Given the description of an element on the screen output the (x, y) to click on. 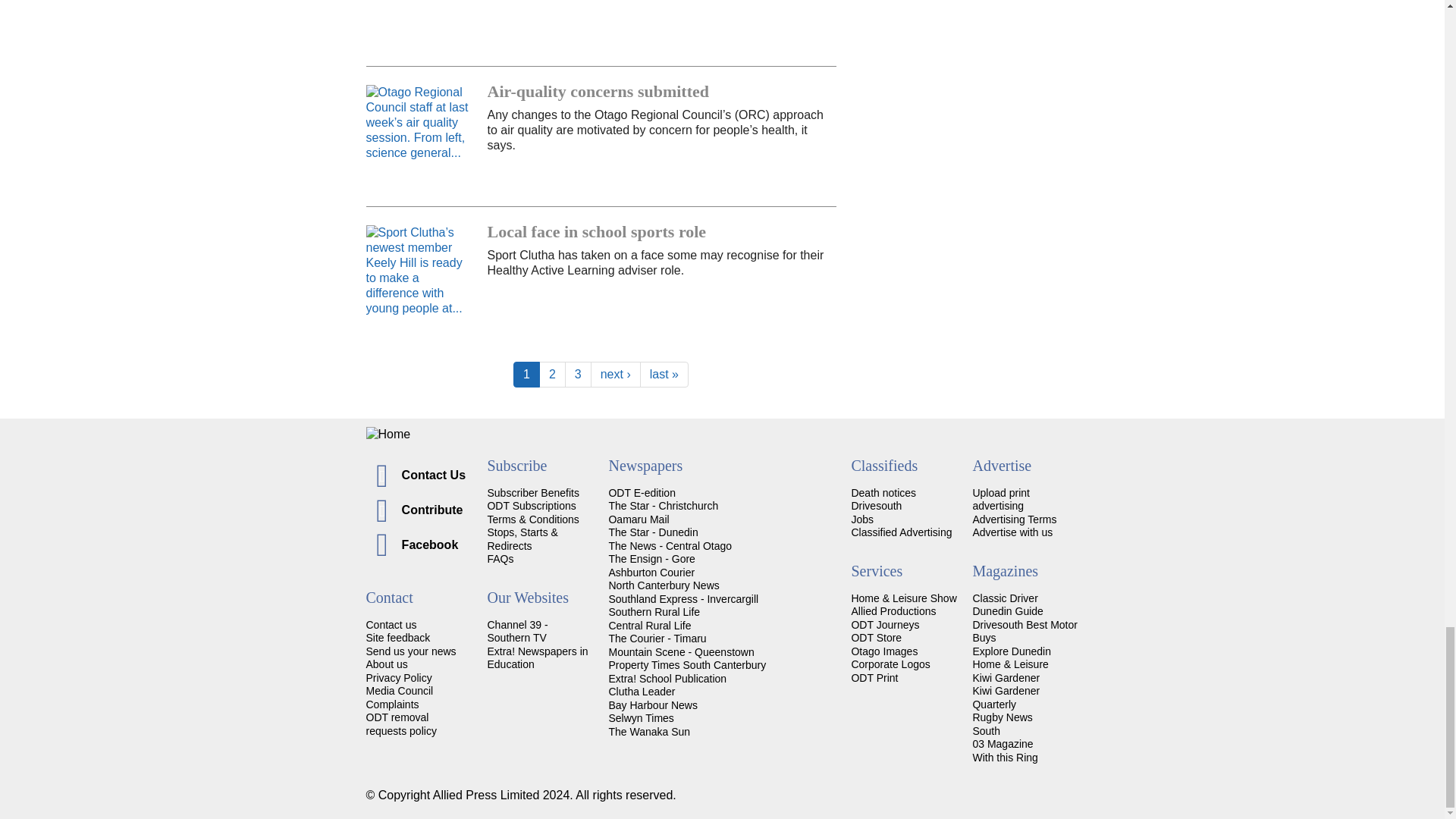
Get in touch (390, 624)
Get the ODT delivered right to you! (532, 492)
Home (721, 433)
Go to page 2 (552, 374)
Go to page 3 (577, 374)
Send us your news and photos. (410, 651)
Go to last page (664, 374)
Ways to subscribe to the Otago Daily Times (530, 505)
Go to next page (615, 374)
Let us know what you think (397, 637)
